Given the description of an element on the screen output the (x, y) to click on. 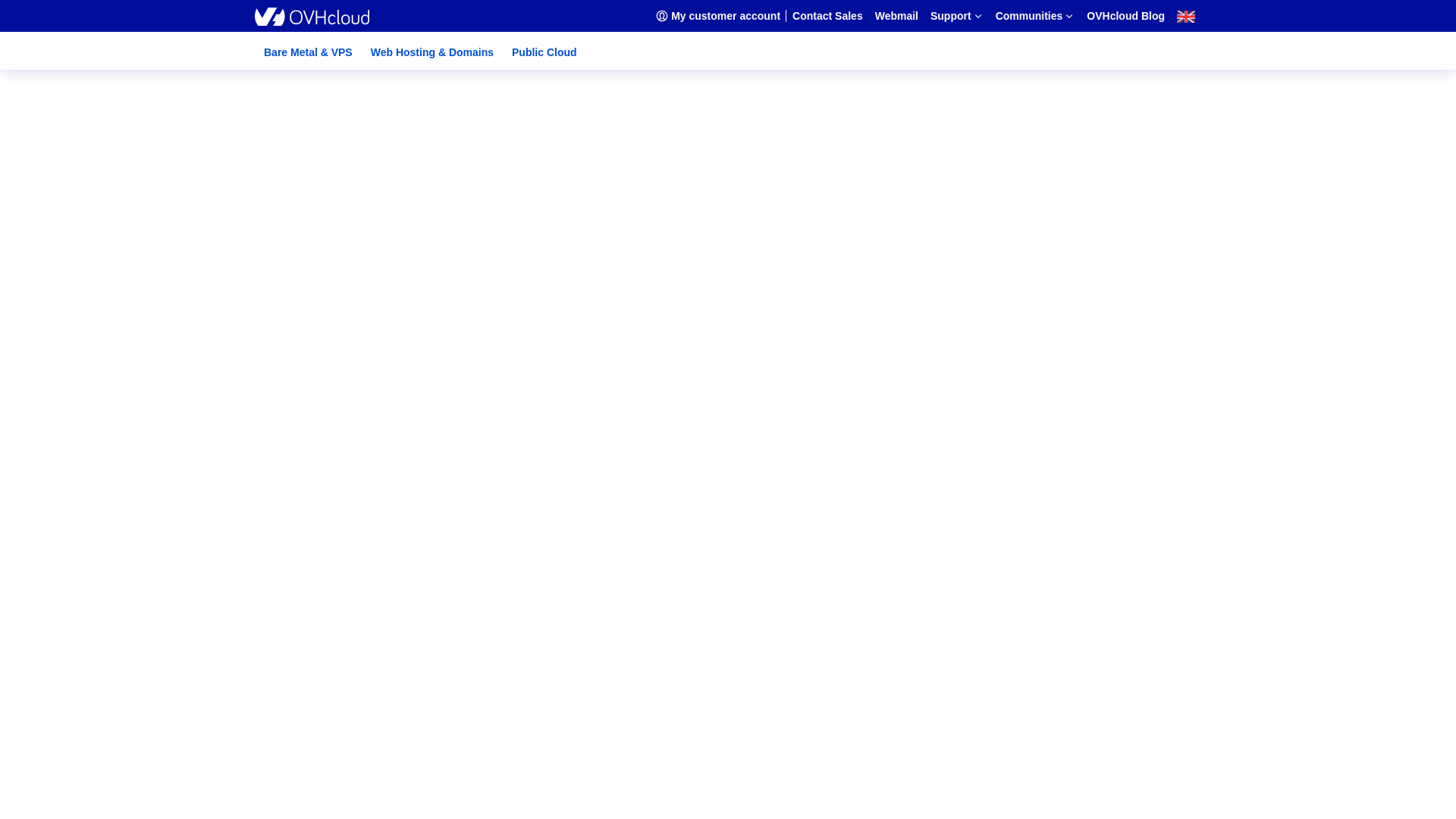
Back to menu Element type: text (103, 296)
Support Levels Element type: text (103, 323)
OVHcloud Videos Element type: text (111, 423)
Maroc [Dhs] Element type: text (105, 786)
OVHcloud Stories Element type: text (111, 437)
Support Element type: text (60, 280)
Public Cloud Element type: text (544, 51)
Help center Element type: text (94, 310)
Canada (en) [$] Element type: text (111, 718)
Communities Element type: text (71, 366)
Notifications Element type: text (69, 158)
Back to menu Element type: text (103, 382)
Manifesto Element type: text (91, 505)
Bare Metal & VPS Element type: text (307, 51)
United States [$] Element type: text (114, 745)
Cloud Security Element type: text (102, 492)
No pending ticket Element type: text (752, 203)
Case Studies Element type: text (97, 410)
Open menu Element type: text (38, 13)
Professional Services Element type: text (118, 337)
Web Hosting & Domains Element type: text (431, 51)
Guides Element type: text (83, 351)
Contact Sales Element type: text (69, 250)
Tutorials Element type: text (87, 451)
Learn Element type: text (80, 478)
Back to menu Element type: text (73, 553)
Back to menu Element type: text (103, 174)
Canada (fr) [$] Element type: text (110, 731)
My customer account Element type: text (737, 227)
Polska [PLN] Element type: text (107, 663)
OVHcloud Blog Element type: text (76, 519)
Use cases Element type: text (90, 464)
Webmail Element type: text (57, 264)
No pending order Element type: text (752, 189)
